Given the description of an element on the screen output the (x, y) to click on. 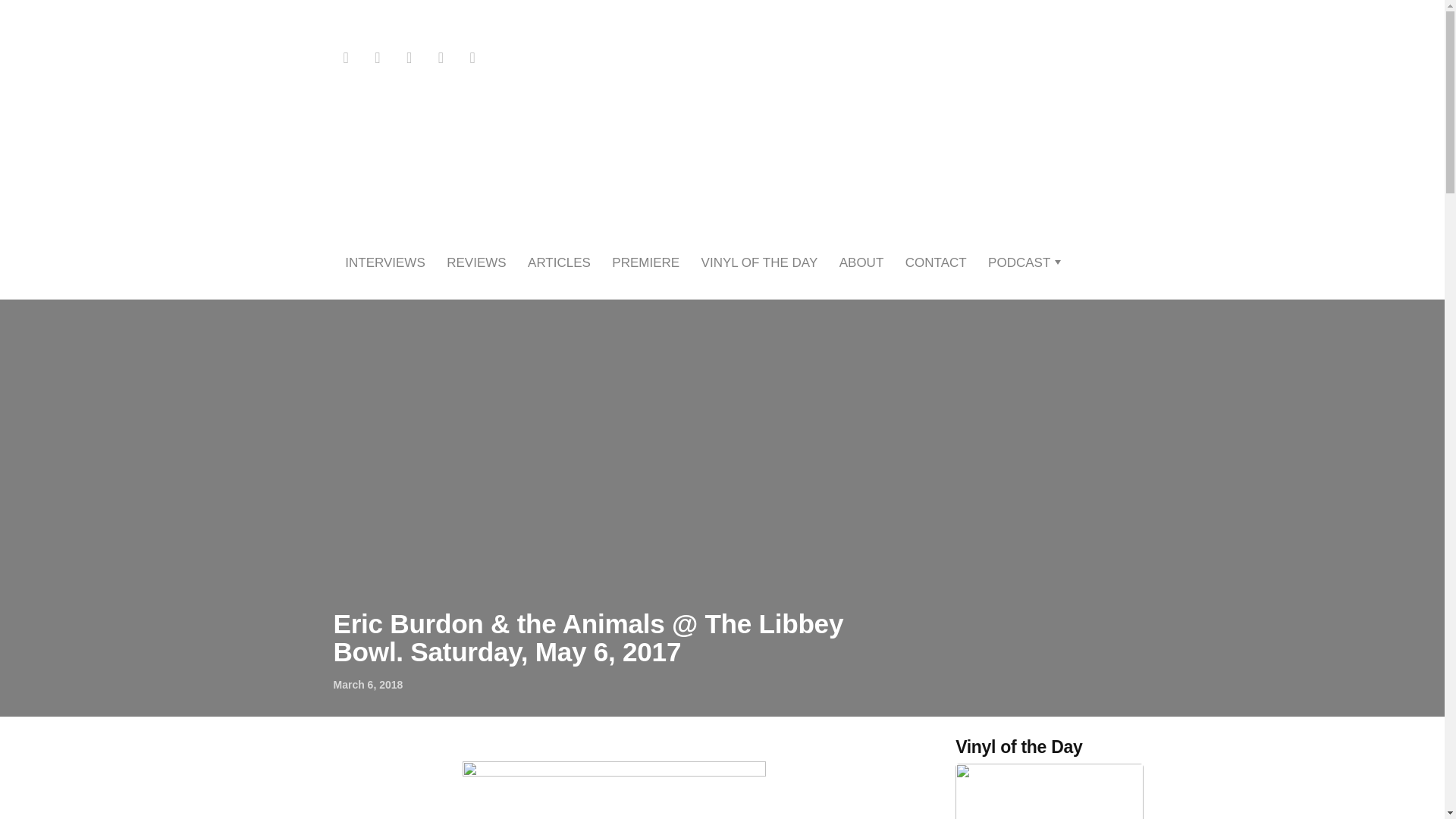
CONTACT (935, 262)
PODCAST (1018, 262)
It's Psychedelic Baby Magazine (722, 153)
PREMIERE (645, 262)
VINYL OF THE DAY (759, 262)
ABOUT (861, 262)
ARTICLES (559, 262)
INTERVIEWS (385, 262)
REVIEWS (475, 262)
